Given the description of an element on the screen output the (x, y) to click on. 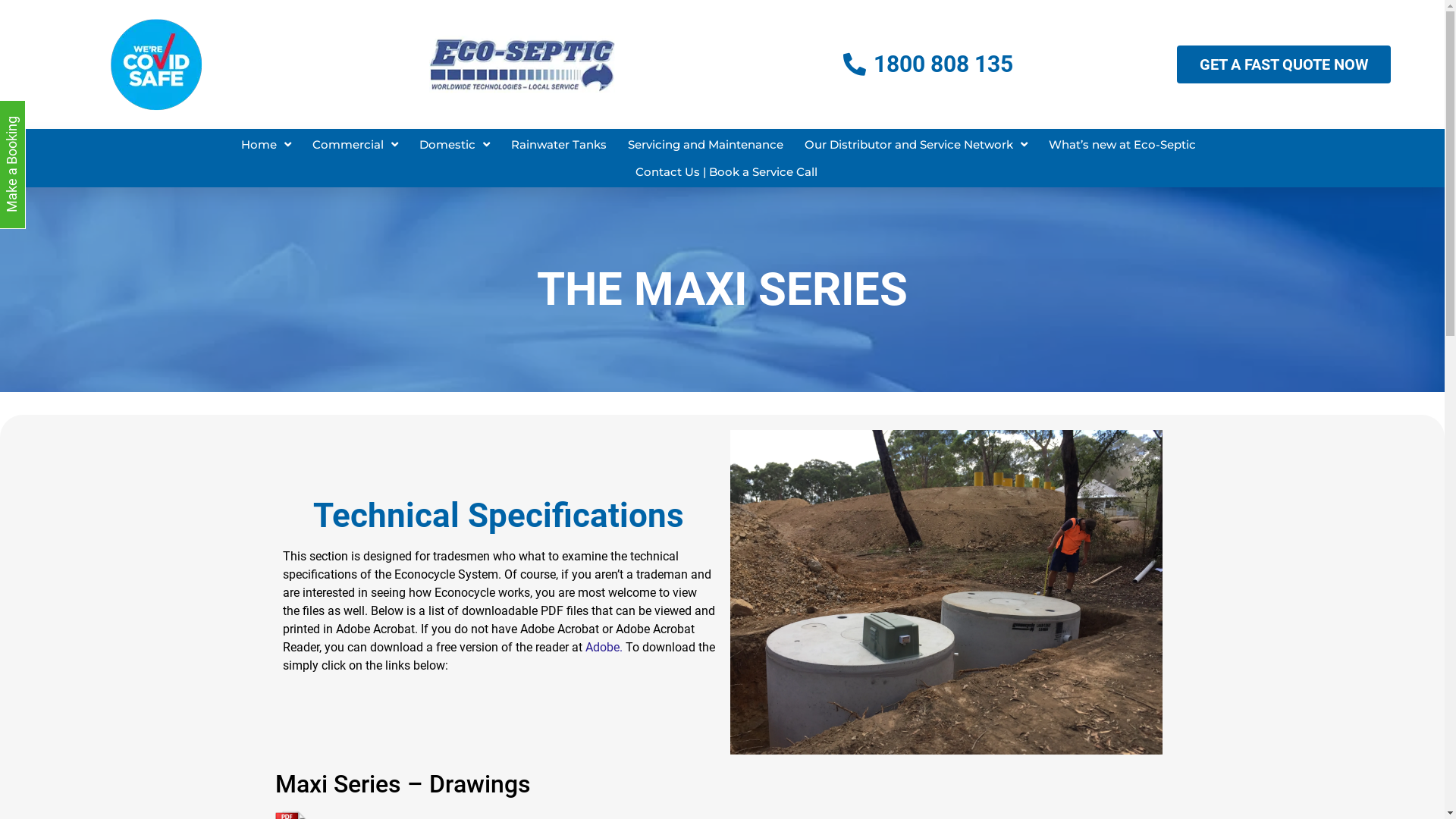
Home Element type: text (266, 143)
1800 808 135 Element type: text (927, 63)
Servicing and Maintenance Element type: text (705, 143)
Contact Us | Book a Service Call Element type: text (726, 171)
Our Distributor and Service Network Element type: text (915, 143)
Rainwater Tanks Element type: text (558, 143)
Domestic Element type: text (454, 143)
Adobe. Element type: text (603, 647)
GET A FAST QUOTE NOW Element type: text (1283, 64)
Commercial Element type: text (355, 143)
